Given the description of an element on the screen output the (x, y) to click on. 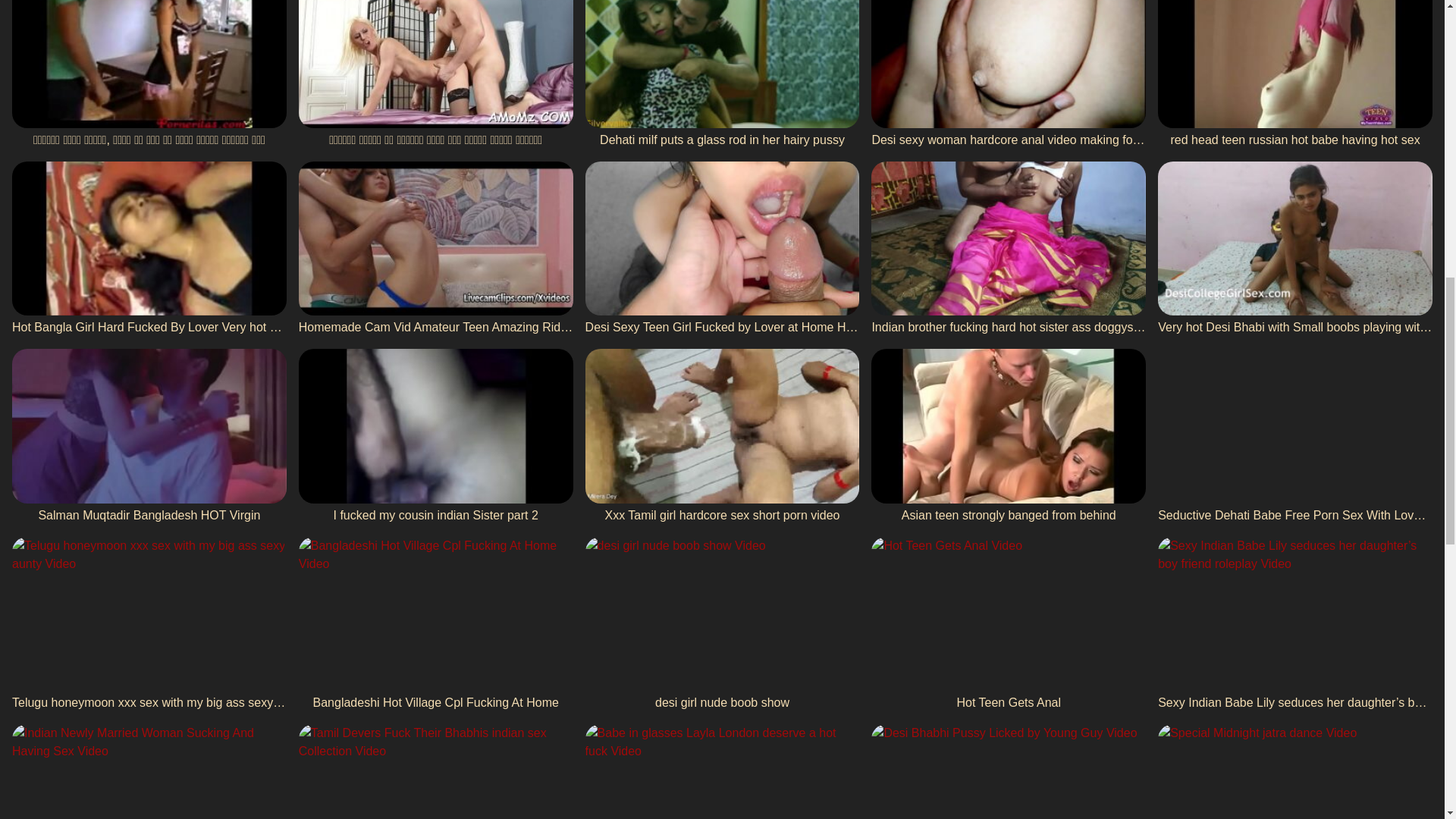
Salman Muqtadir Bangladesh HOT Virgin (148, 436)
Very hot Desi Bhabi with Small boobs playing with Bf (1294, 249)
Hot Teen Gets Anal (1007, 624)
I fucked my cousin  indian Sister part 2 (435, 436)
Hot Bangla Girl Hard Fucked By Lover Very hot clip (148, 249)
Asian teen strongly banged from behind (1007, 436)
red head teen russian hot babe having hot sex (1294, 74)
Desi sexy woman hardcore anal video making for lover (1007, 74)
I fucked my cousin indian Sister part 2 (435, 436)
desi girl nude boob show (722, 624)
